Given the description of an element on the screen output the (x, y) to click on. 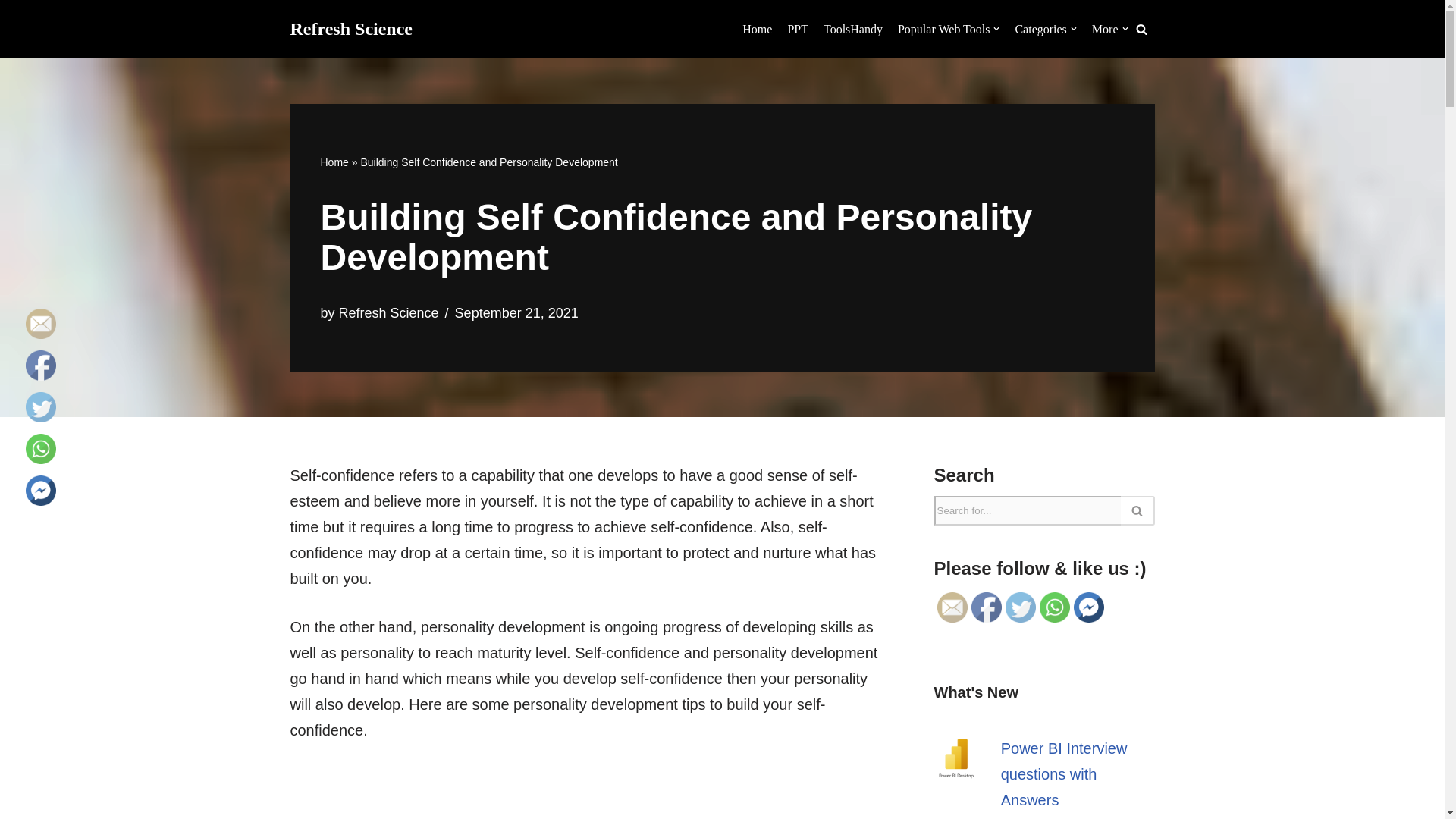
PPT (797, 29)
Posts by Refresh Science (389, 313)
Skip to content (11, 31)
Categories (1044, 29)
Refresh Science (350, 29)
More (1110, 29)
Refresh Science (350, 29)
Home (756, 29)
Popular Web Tools (948, 29)
Advertisement (588, 792)
ToolsHandy (853, 29)
